Given the description of an element on the screen output the (x, y) to click on. 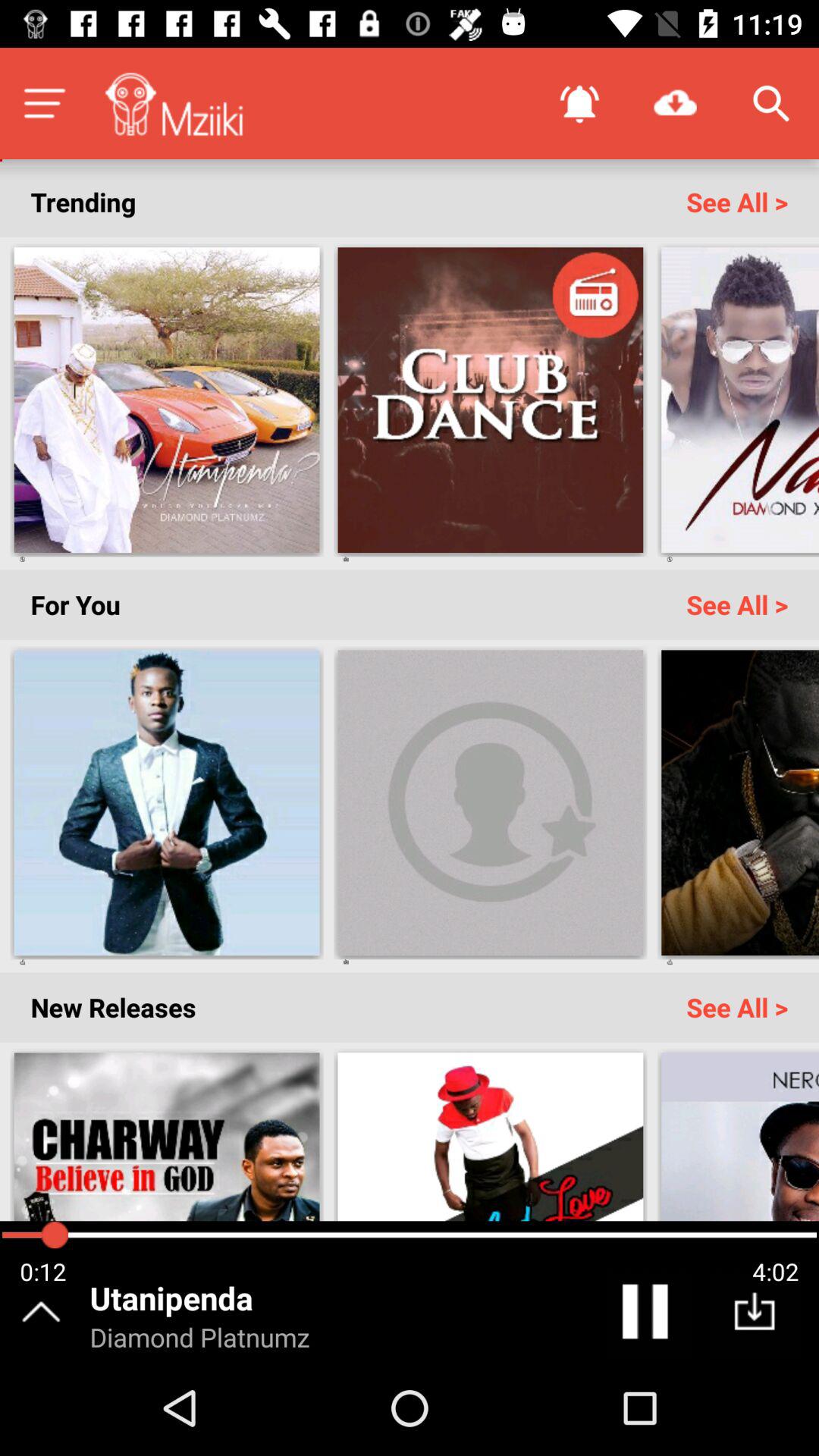
open menu (44, 103)
